Given the description of an element on the screen output the (x, y) to click on. 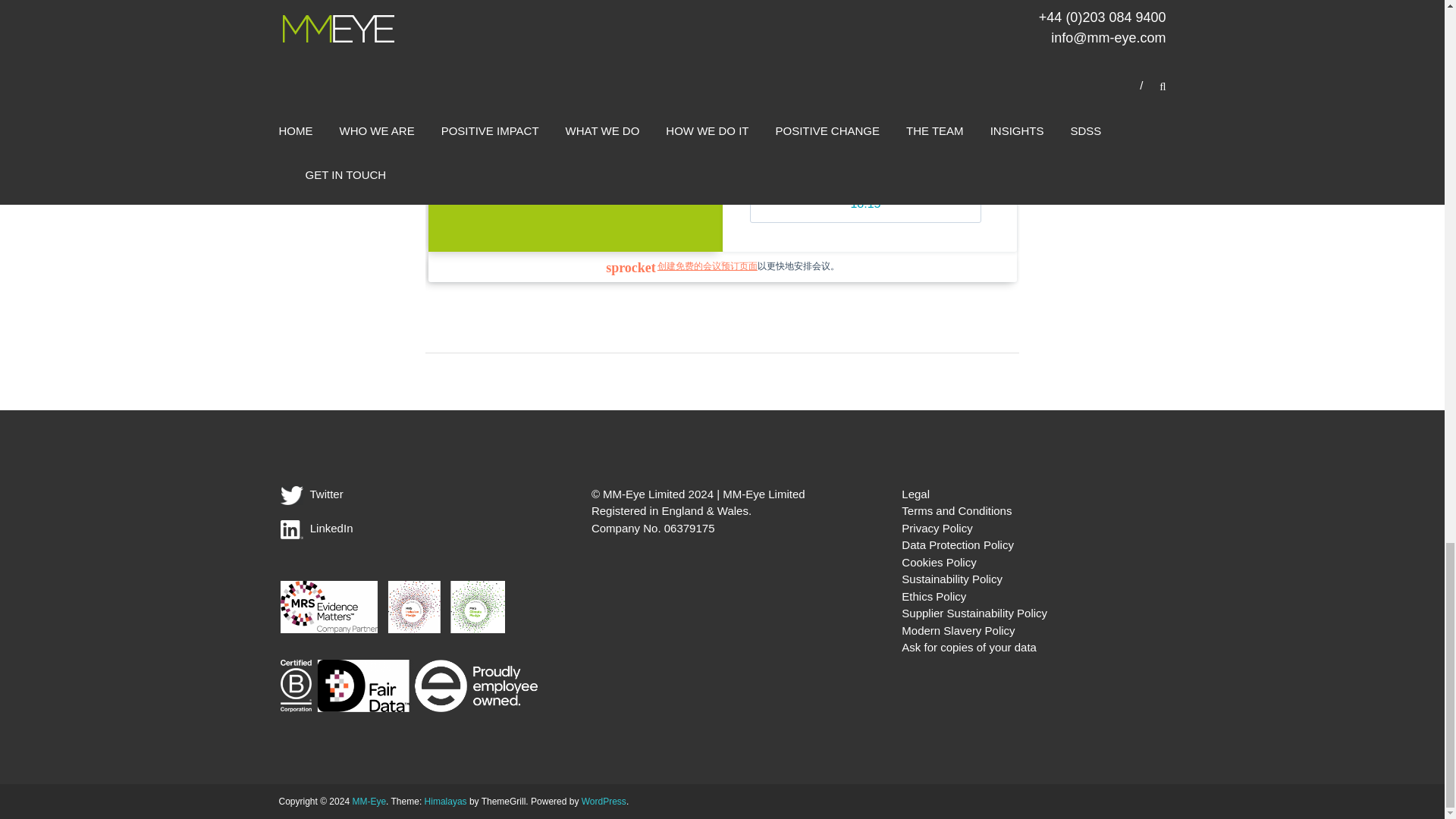
MM-Eye (368, 801)
WordPress (603, 801)
Himalayas (446, 801)
